Given the description of an element on the screen output the (x, y) to click on. 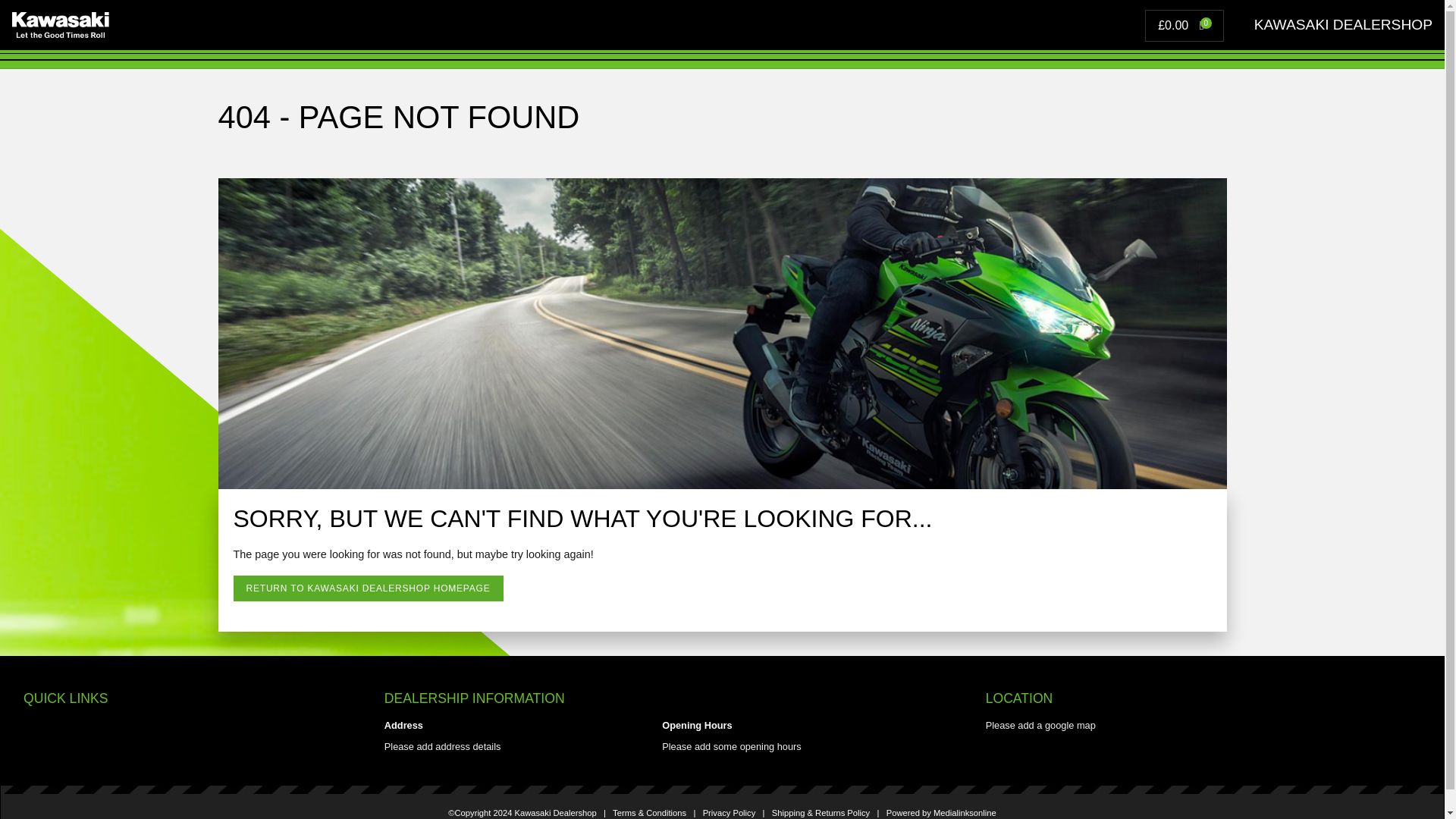
View your shopping cart (1186, 24)
RETURN TO KAWASAKI DEALERSHOP HOMEPAGE (367, 588)
Privacy Policy (729, 812)
Powered by Medialinksonline (940, 812)
